Given the description of an element on the screen output the (x, y) to click on. 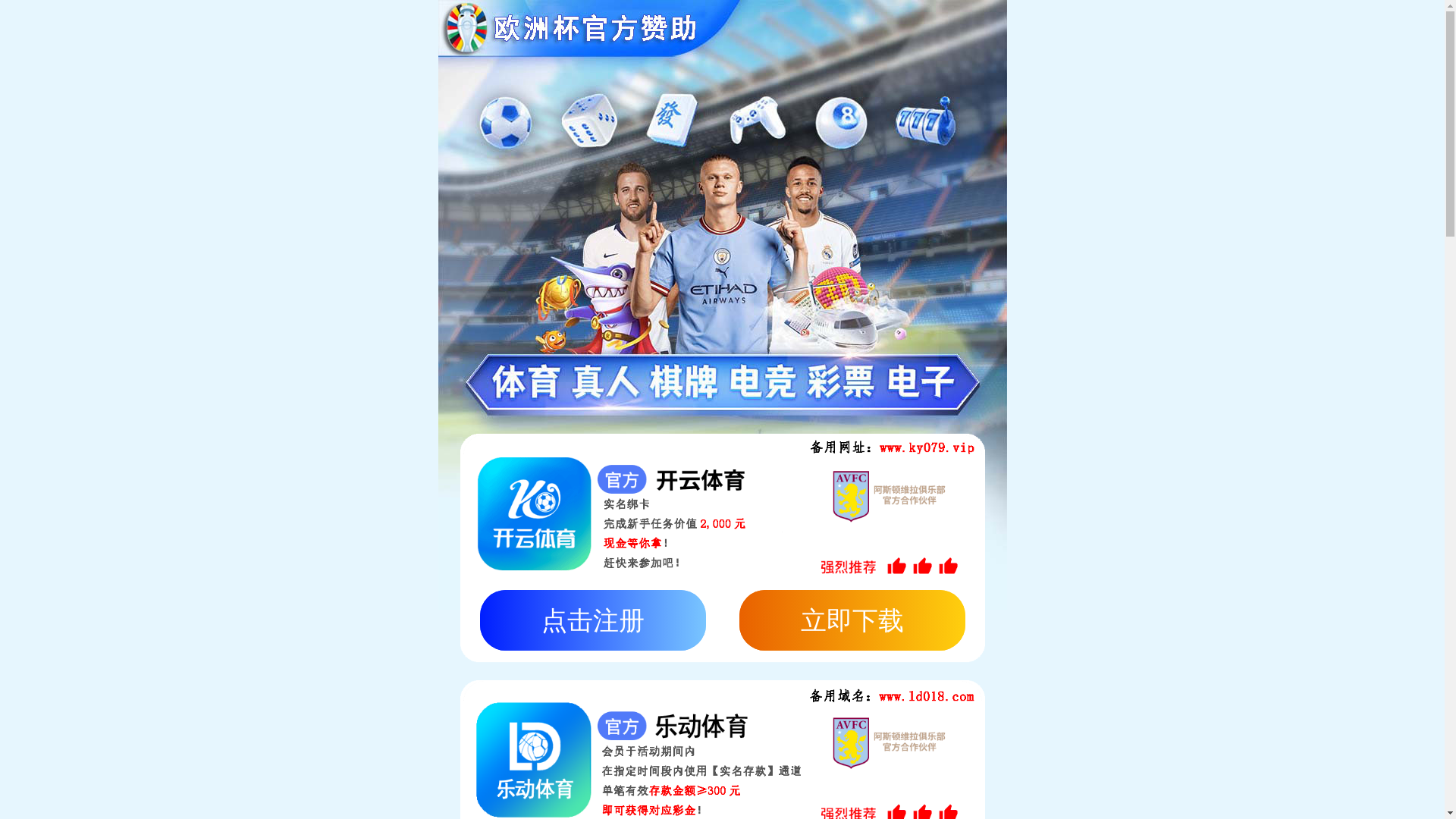
RB500 Type Taping Unit (383, 680)
90 Extruder (383, 585)
About us (410, 146)
Honors (662, 146)
Home (325, 146)
High-speed production line (383, 490)
Ready-made branch cable series (383, 514)
New product (383, 656)
Contact (831, 146)
200 Extruder (383, 632)
